Given the description of an element on the screen output the (x, y) to click on. 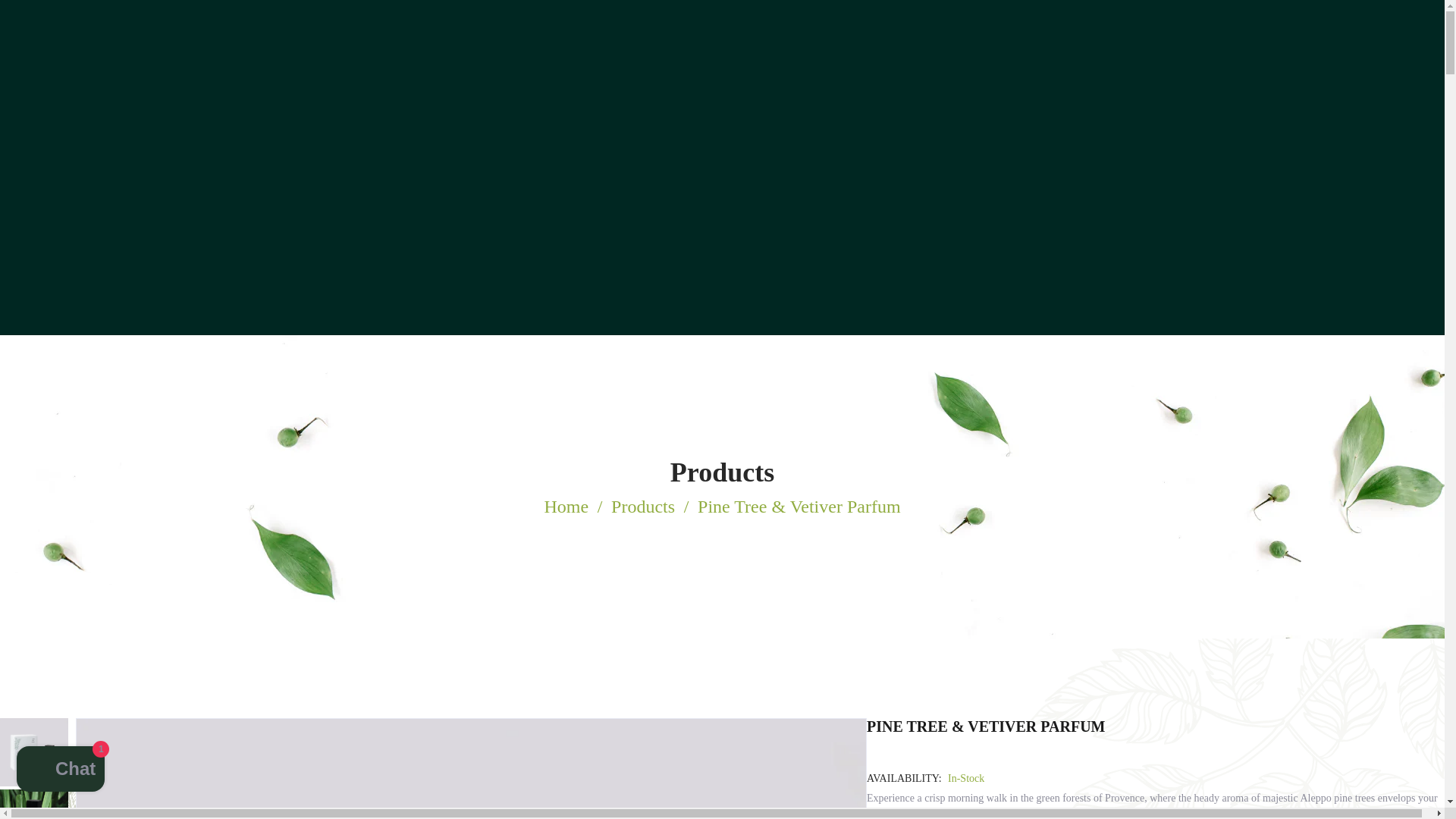
All Products (721, 472)
ROOTS (565, 506)
All Products (643, 506)
